Given the description of an element on the screen output the (x, y) to click on. 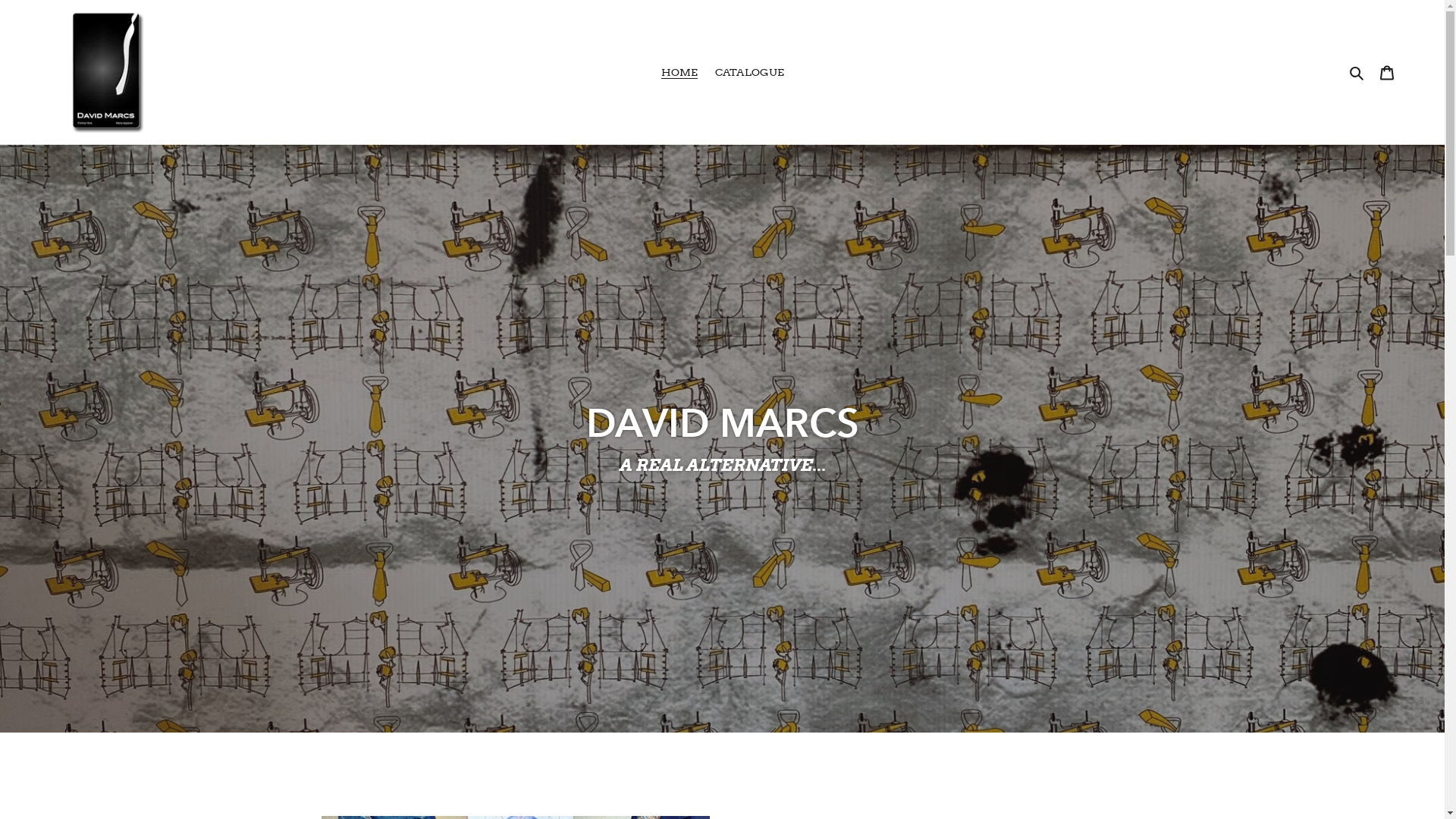
Search Element type: text (1357, 71)
HOME Element type: text (679, 72)
Cart Element type: text (1386, 71)
CATALOGUE Element type: text (748, 72)
